Given the description of an element on the screen output the (x, y) to click on. 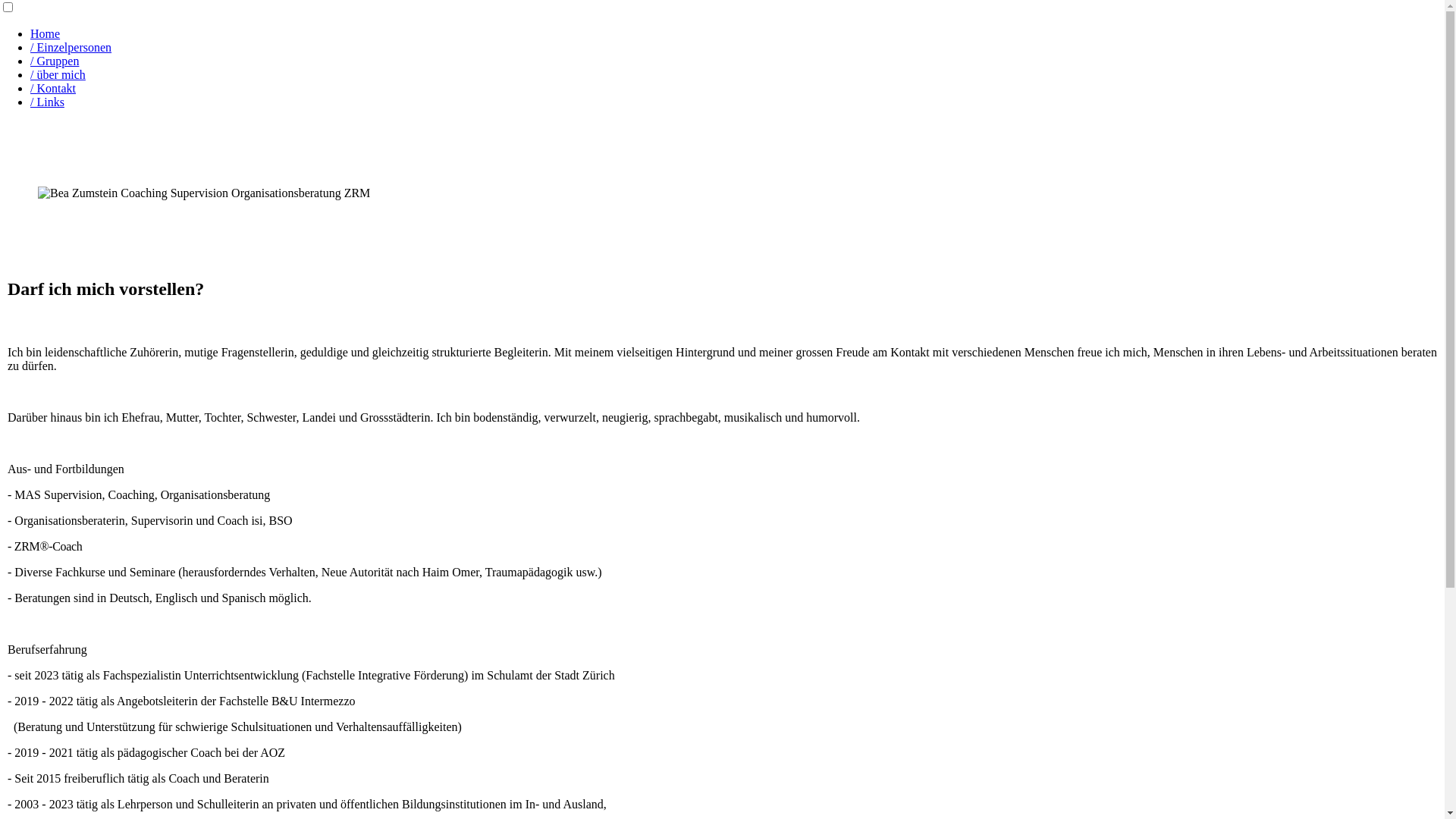
Home Element type: text (44, 33)
/ Links Element type: text (47, 101)
/ Gruppen Element type: text (54, 60)
/ Kontakt Element type: text (52, 87)
/ Einzelpersonen Element type: text (70, 46)
